Given the description of an element on the screen output the (x, y) to click on. 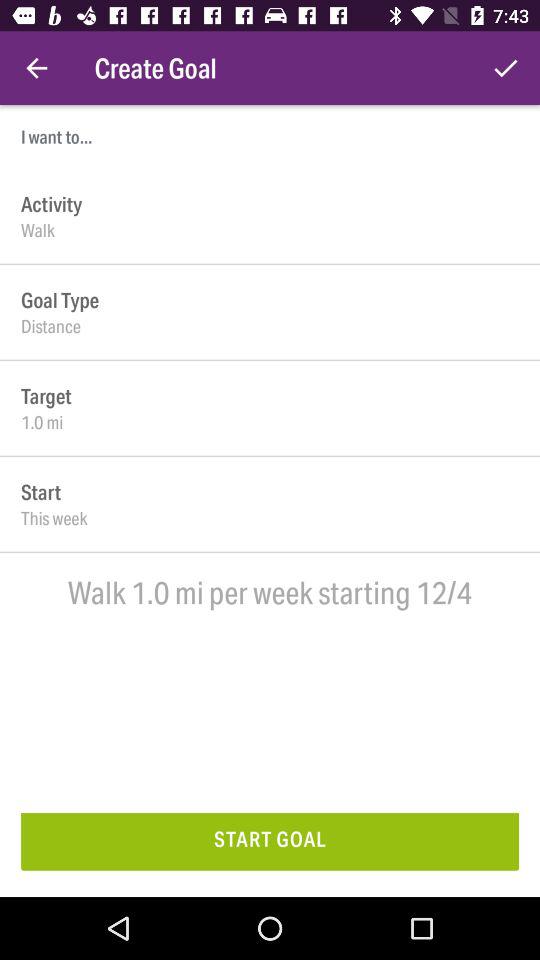
turn off the icon above the i want to... item (36, 68)
